Given the description of an element on the screen output the (x, y) to click on. 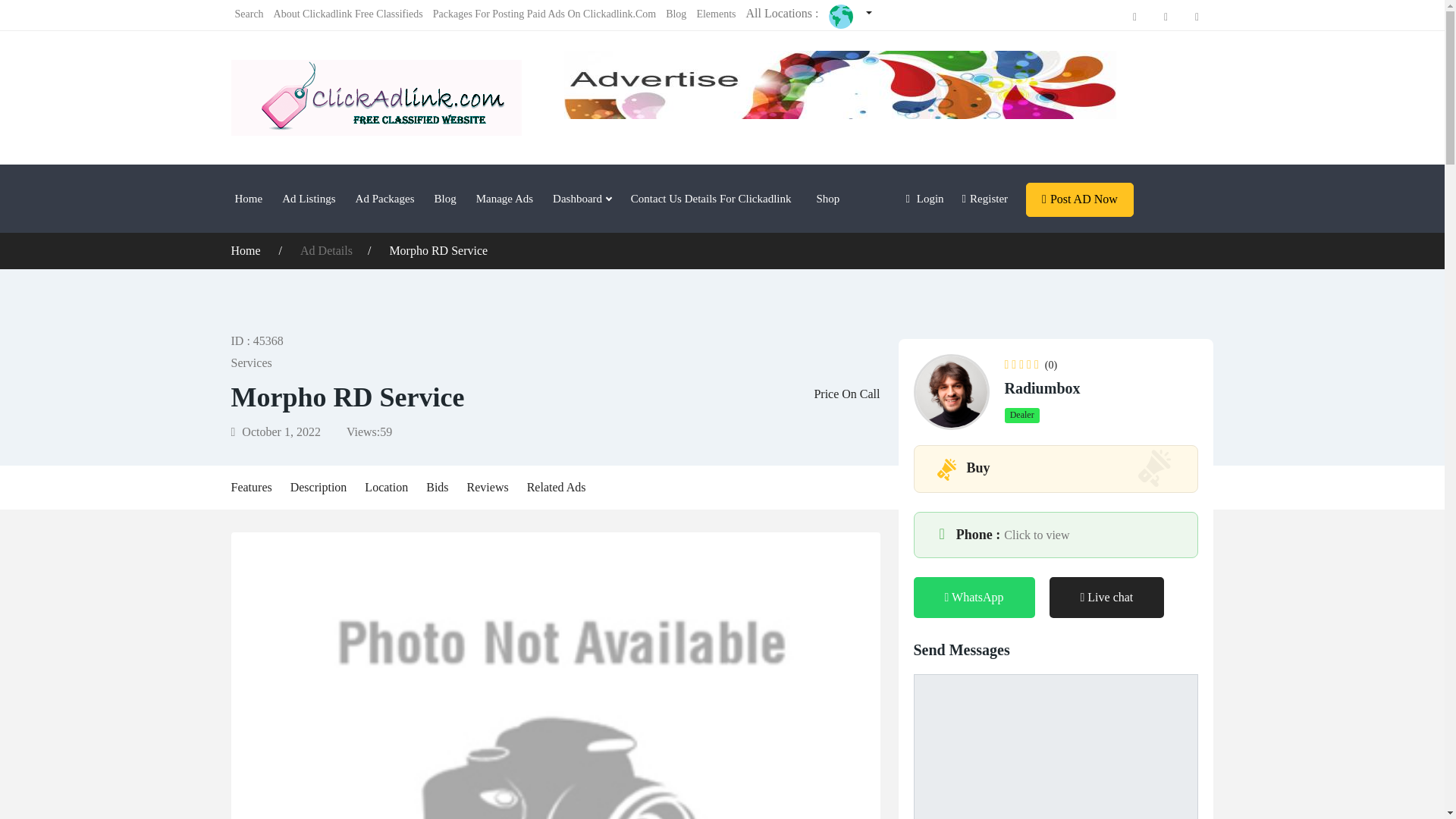
Home (248, 198)
Blog (445, 198)
Shop (820, 198)
Post AD Now (1080, 199)
Dashboard (582, 198)
Manage Ads (504, 198)
Morpho RD Service (437, 250)
October 1, 2022 (286, 431)
Login (924, 198)
Ad Packages (385, 198)
Views:59 (368, 431)
Ad Listings (308, 198)
About Clickadlink Free Classifieds (348, 13)
Contact Us Details For Clickadlink (711, 198)
Register (984, 198)
